Given the description of an element on the screen output the (x, y) to click on. 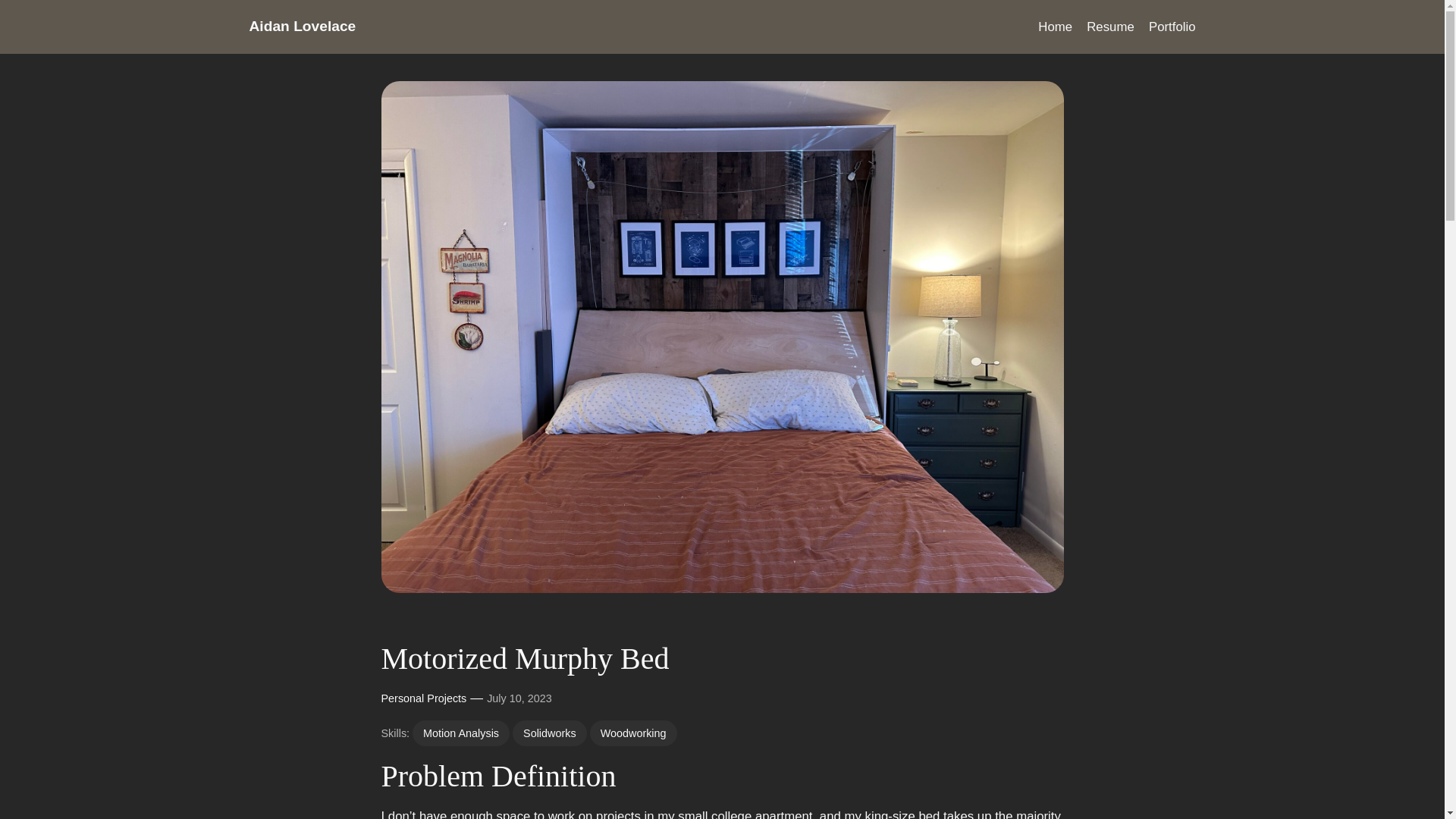
Solidworks (549, 733)
Personal Projects (422, 697)
Home (1054, 26)
Portfolio (1171, 26)
Motion Analysis (460, 733)
Woodworking (633, 733)
Resume (1110, 26)
Aidan Lovelace (301, 26)
